Given the description of an element on the screen output the (x, y) to click on. 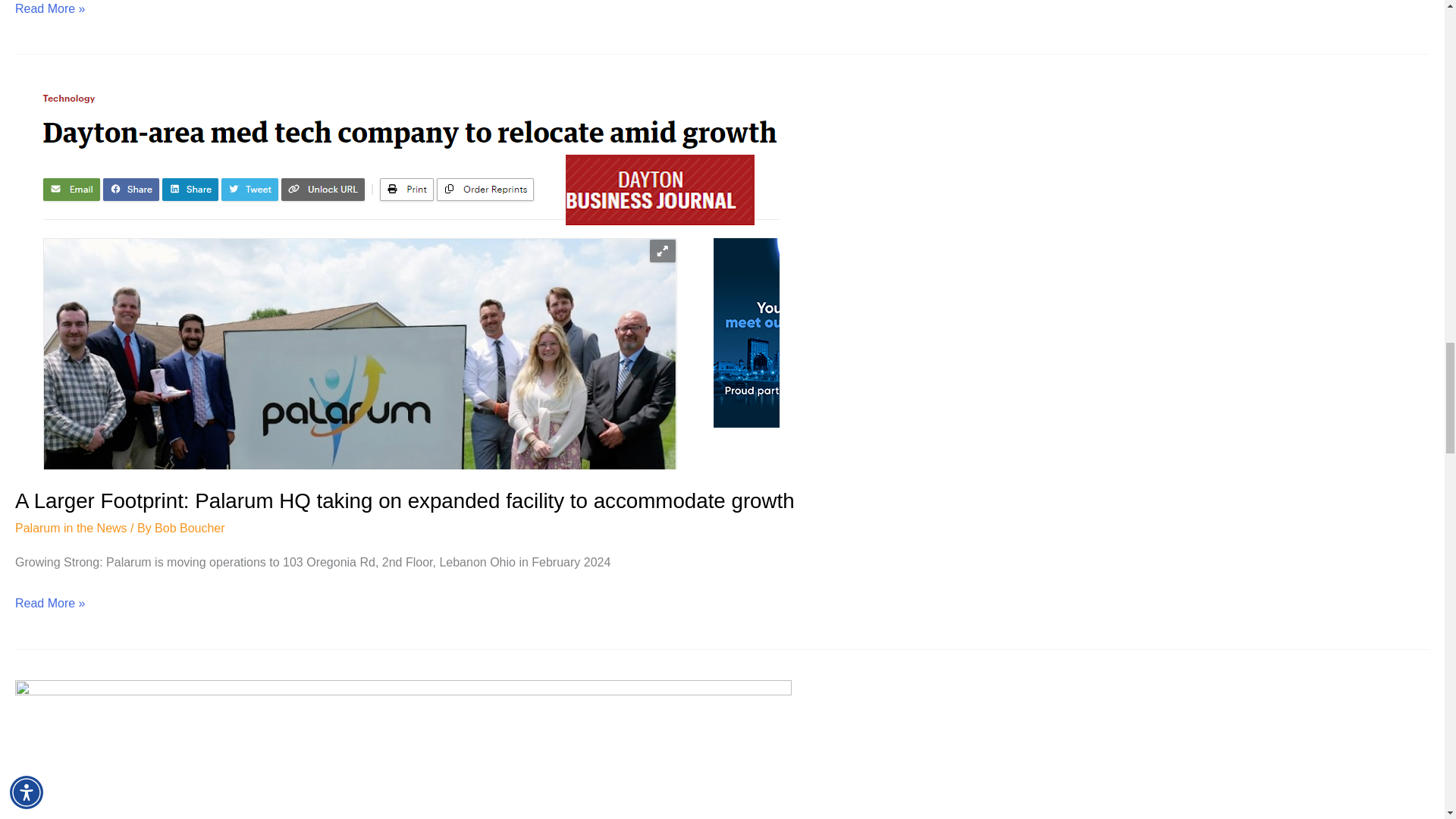
View all posts by Bob Boucher (189, 527)
